Given the description of an element on the screen output the (x, y) to click on. 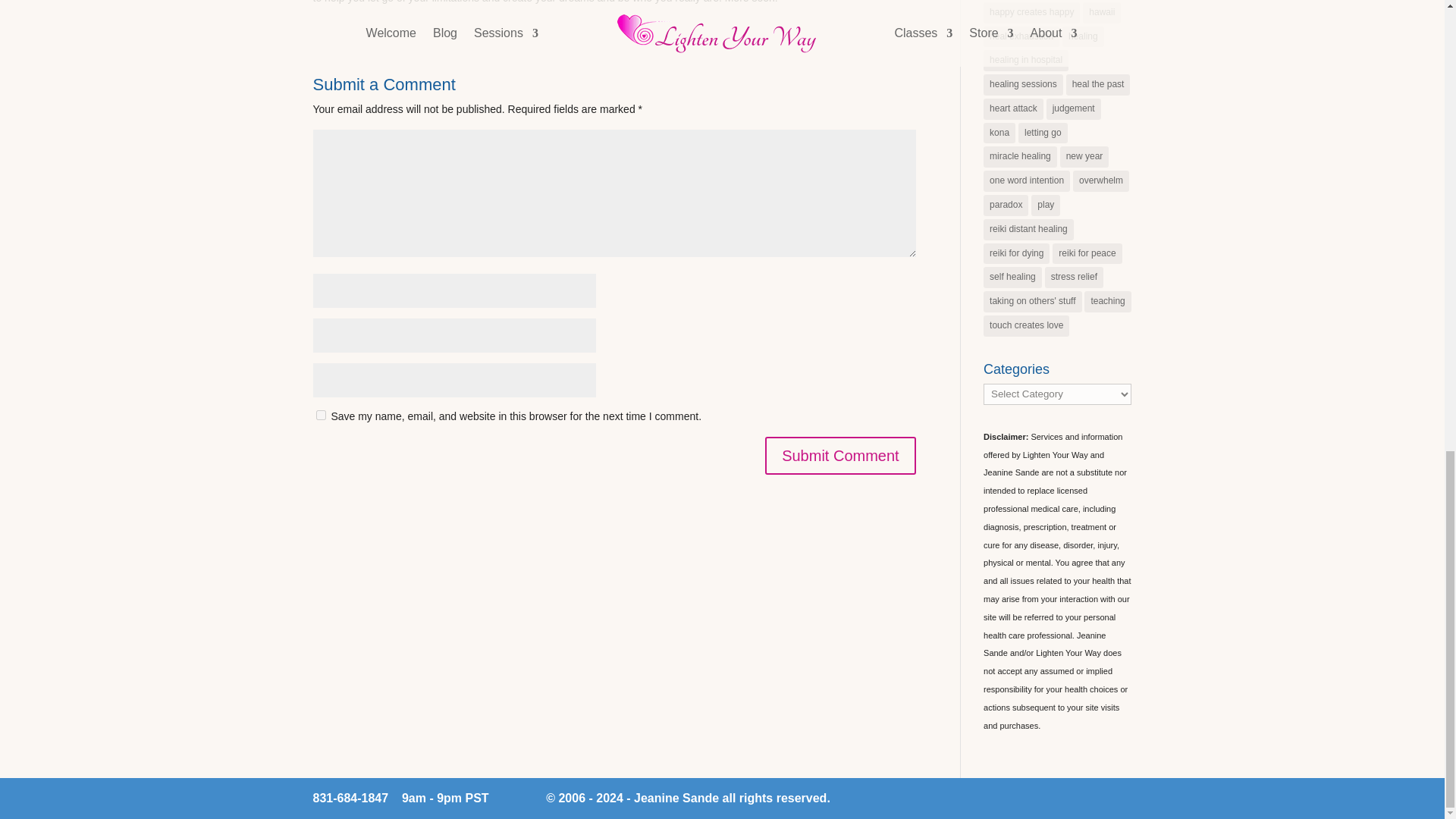
yes (319, 415)
Submit Comment (840, 455)
